Given the description of an element on the screen output the (x, y) to click on. 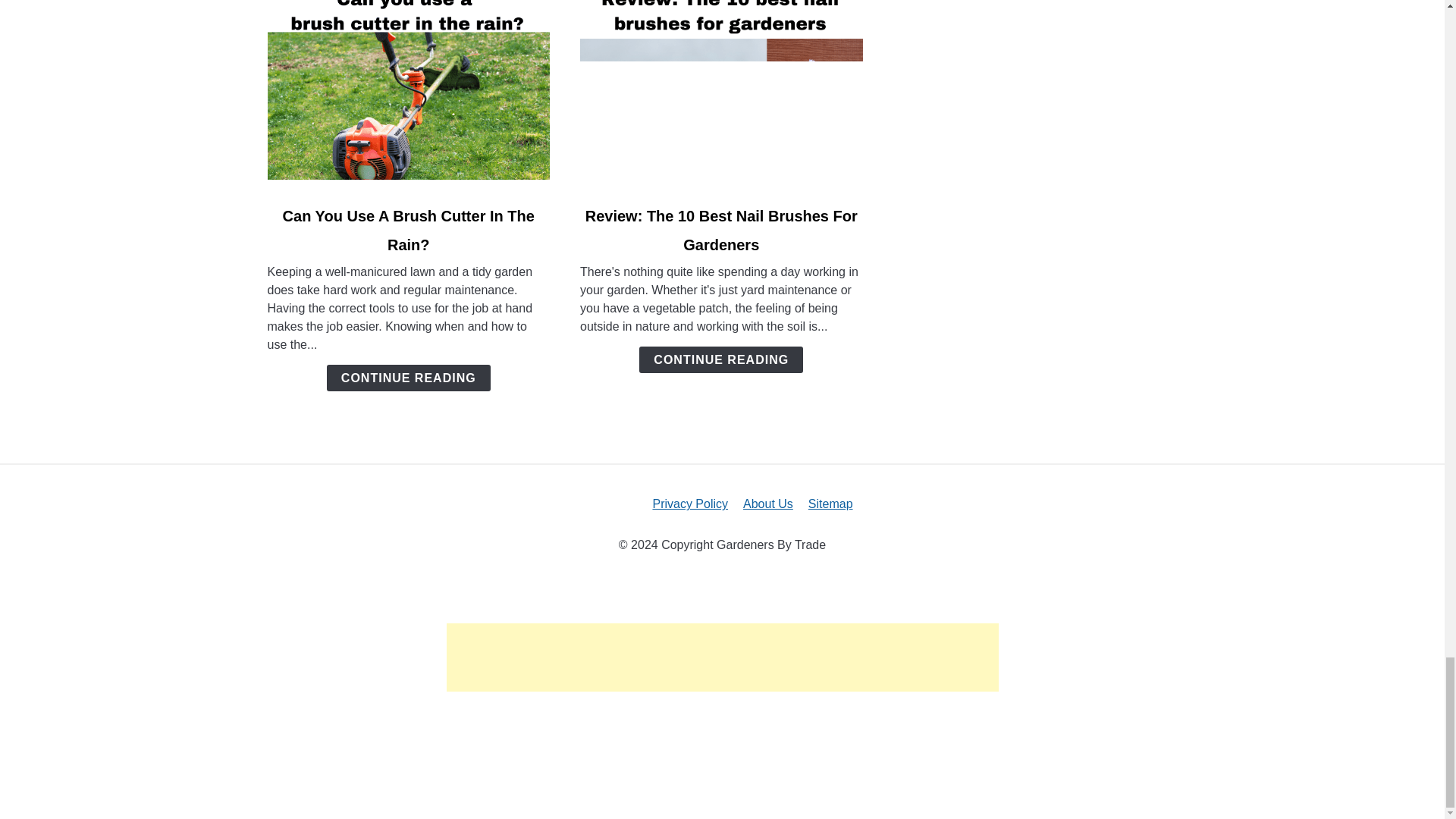
Review: The 10 Best Nail Brushes For Gardeners (721, 230)
Privacy Policy (690, 503)
link to Can You Use A Brush Cutter In The Rain? (408, 93)
Sitemap (830, 503)
link to Review: The 10 Best Nail Brushes For Gardeners (721, 93)
CONTINUE READING (408, 377)
CONTINUE READING (721, 359)
Can You Use A Brush Cutter In The Rain? (408, 230)
About Us (767, 503)
